Given the description of an element on the screen output the (x, y) to click on. 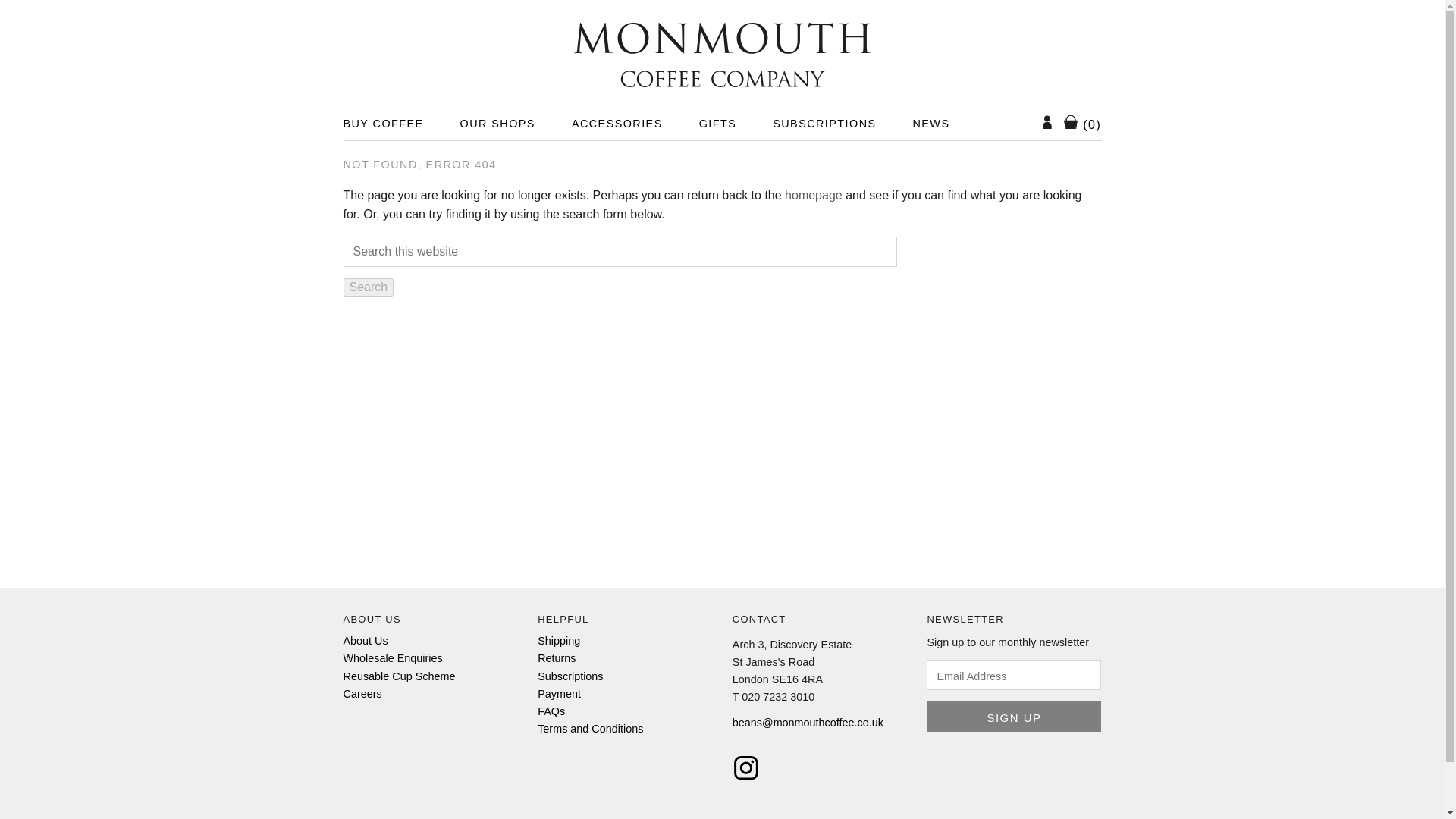
FAQs (550, 711)
NEWS (931, 123)
About Us (364, 640)
Reusable Cup Scheme (398, 676)
Careers (361, 693)
ACCESSORIES (617, 123)
Search (367, 287)
SUBSCRIPTIONS (824, 123)
View your shopping cart (1083, 124)
homepage (813, 195)
